Given the description of an element on the screen output the (x, y) to click on. 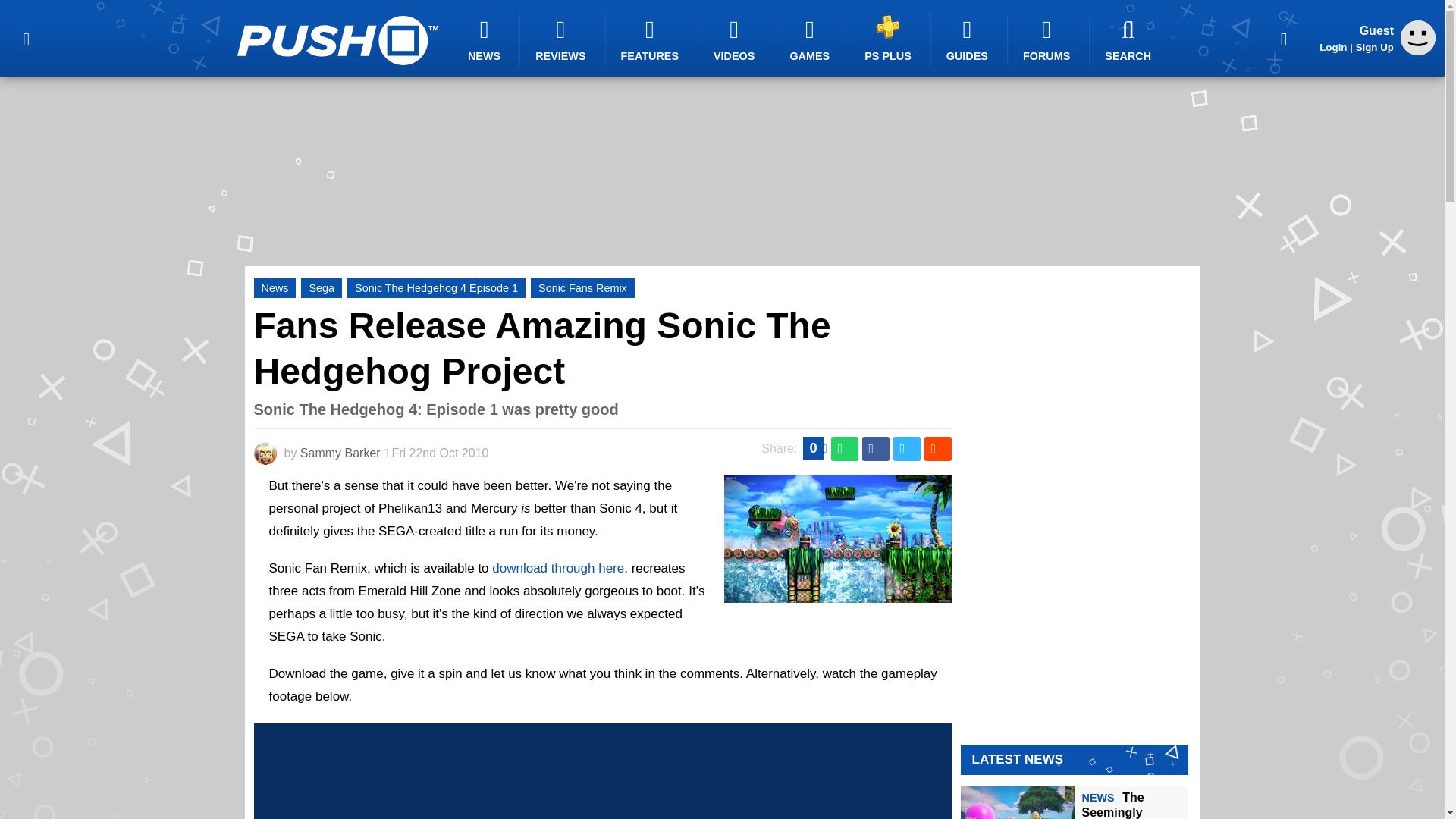
REVIEWS (562, 39)
VIDEOS (736, 39)
FEATURES (651, 39)
Menu (26, 37)
PS PLUS (889, 38)
GAMES (811, 39)
GUIDES (969, 39)
Guest (1417, 37)
Share This Page (1283, 37)
FORUMS (1048, 39)
